Given the description of an element on the screen output the (x, y) to click on. 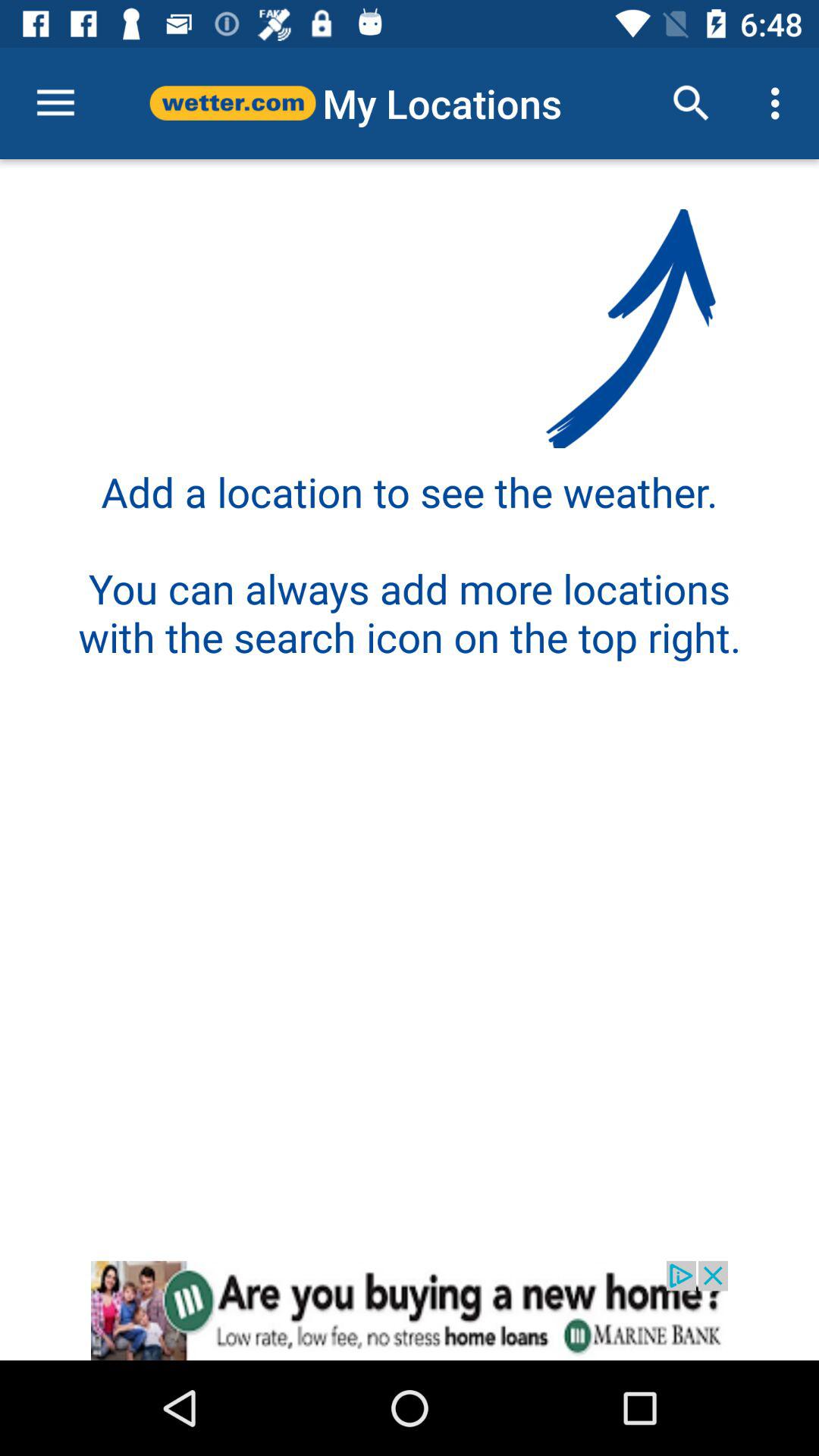
install different app (409, 1310)
